Given the description of an element on the screen output the (x, y) to click on. 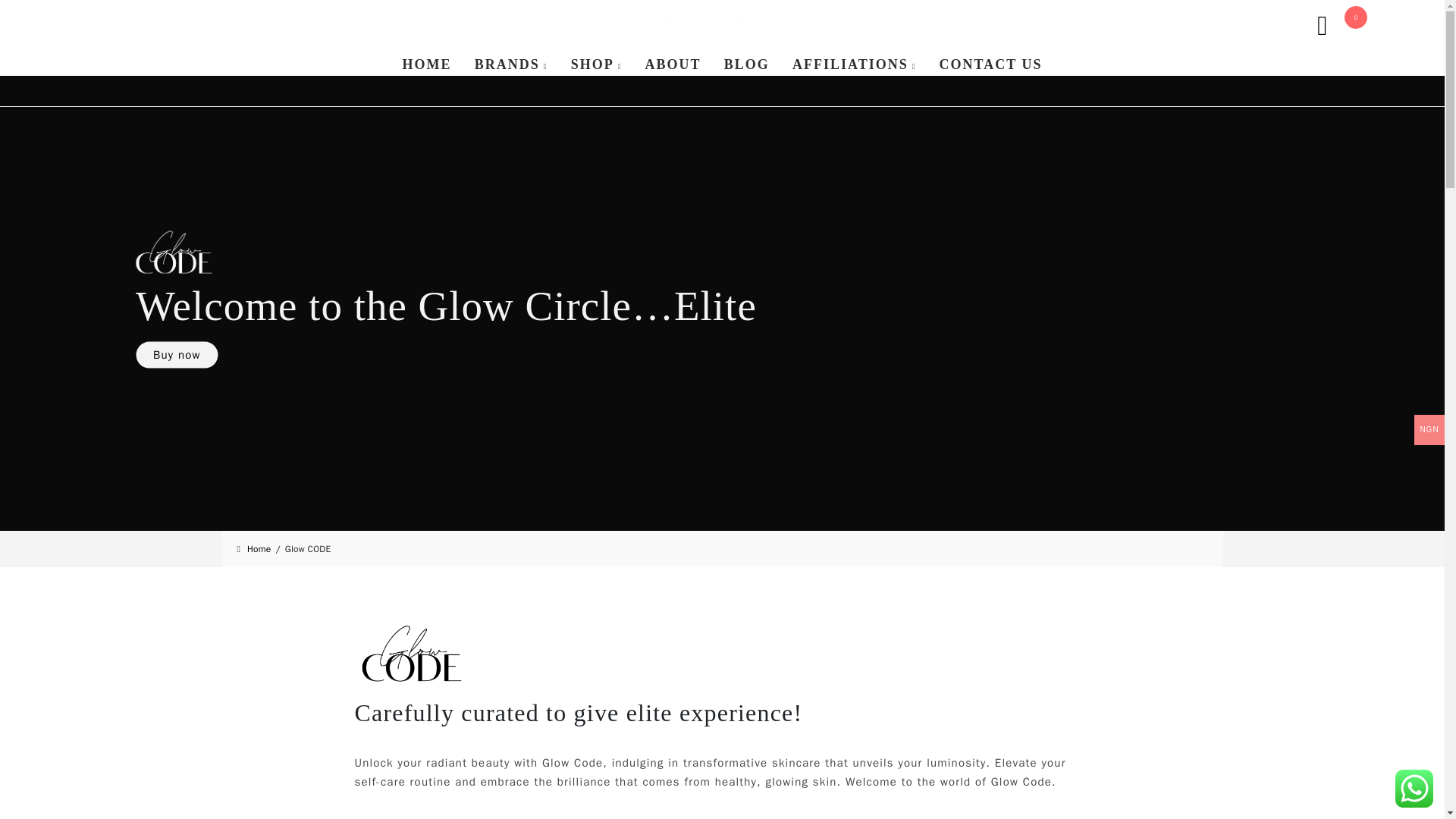
ABOUT (673, 64)
SHOP (596, 64)
BRANDS (511, 64)
brand-Logo-2 (411, 653)
HOME (427, 64)
Home (266, 549)
Buy now (176, 354)
CONTACT US (991, 64)
AFFILIATIONS (853, 64)
BLOG (746, 64)
